Given the description of an element on the screen output the (x, y) to click on. 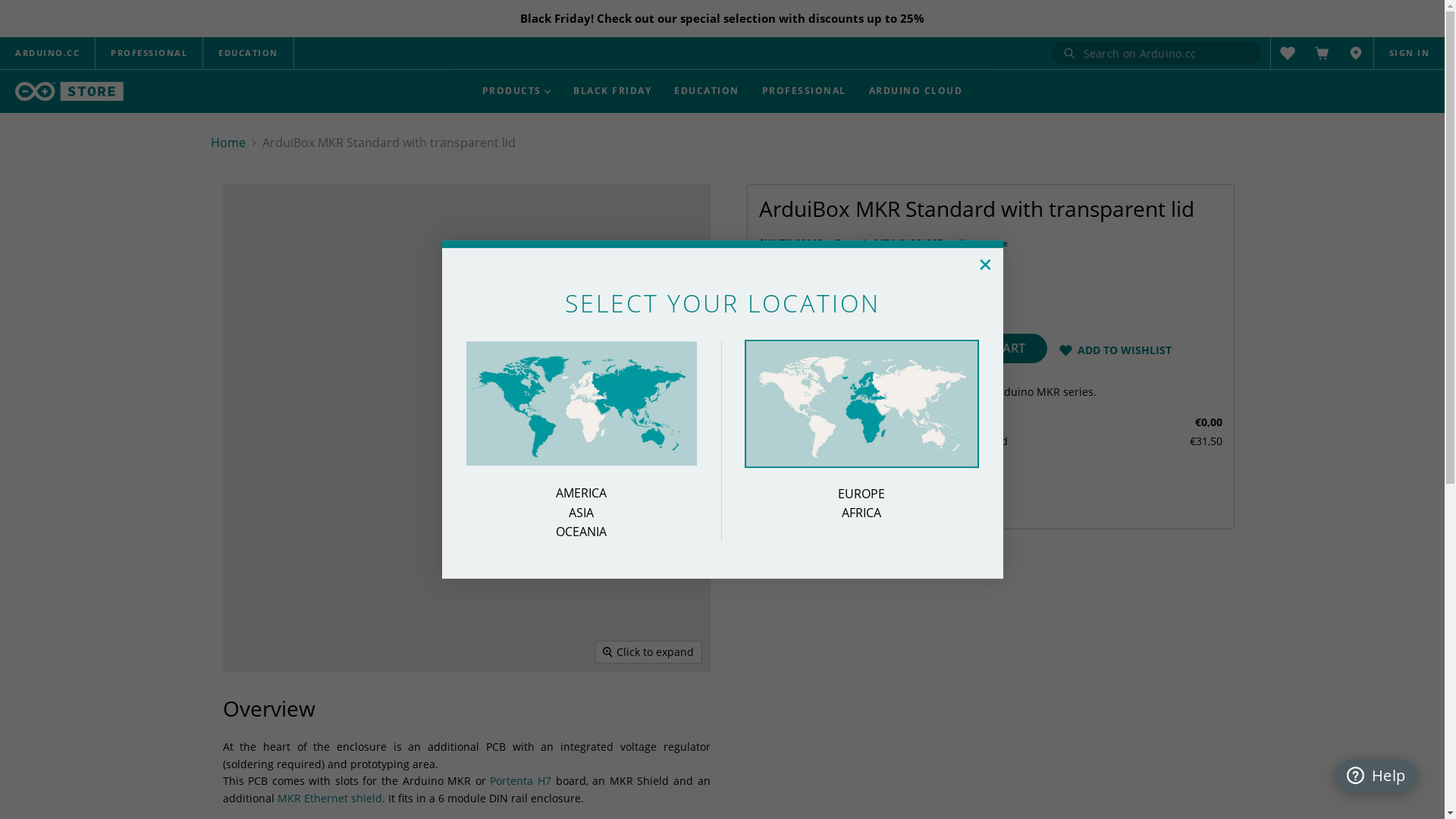
PROFESSIONAL Element type: text (148, 53)
SIGN IN Element type: text (1409, 53)
MKR Ethernet shield Element type: text (329, 797)
Overview Element type: text (254, 61)
Tweet on Twitter Element type: text (792, 495)
EDUCATION Element type: text (248, 53)
Share on LinkedIn Element type: text (816, 495)
BLACK FRIDAY Element type: text (611, 90)
ARDUINO.CC Element type: text (47, 53)
ADD TO CART Element type: text (985, 348)
Help Element type: text (1375, 775)
Show more Element type: text (982, 242)
EDUCATION Element type: text (706, 90)
Portenta H7 Element type: text (520, 780)
+ Element type: text (976, 255)
Share on Facebook Element type: text (768, 495)
ARDUINO CLOUD Element type: text (915, 90)
Home Element type: text (227, 142)
ADD TO WISHLIST Element type: text (1124, 350)
Click to expand Element type: text (648, 651)
Pin on Pinterest Element type: text (840, 495)
PROFESSIONAL Element type: text (803, 90)
